Given the description of an element on the screen output the (x, y) to click on. 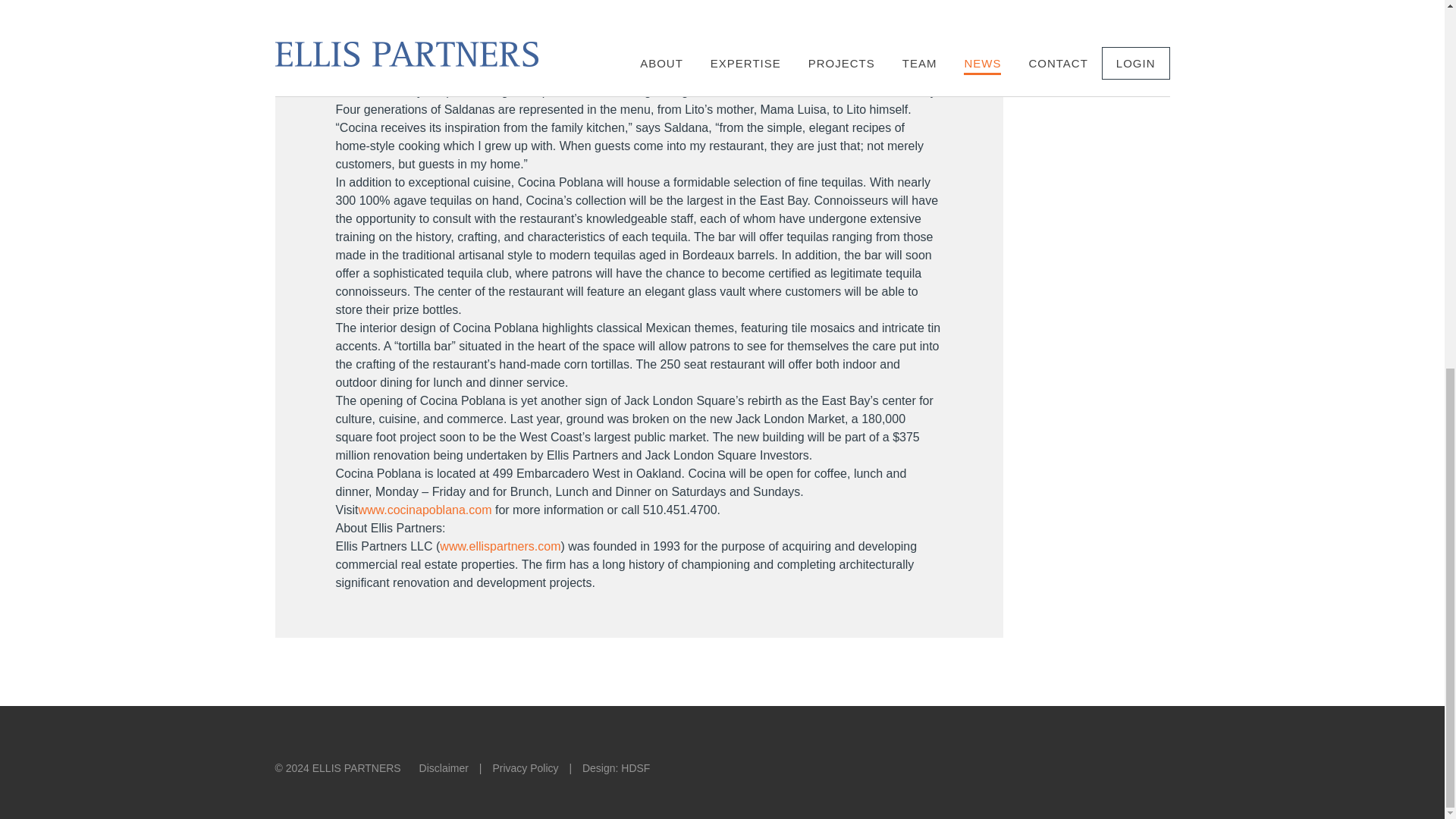
www.cocinapoblana.com (425, 509)
Design: HDSF (615, 767)
www.ellispartners.com (499, 545)
Privacy Policy (524, 767)
Disclaimer (443, 767)
